Given the description of an element on the screen output the (x, y) to click on. 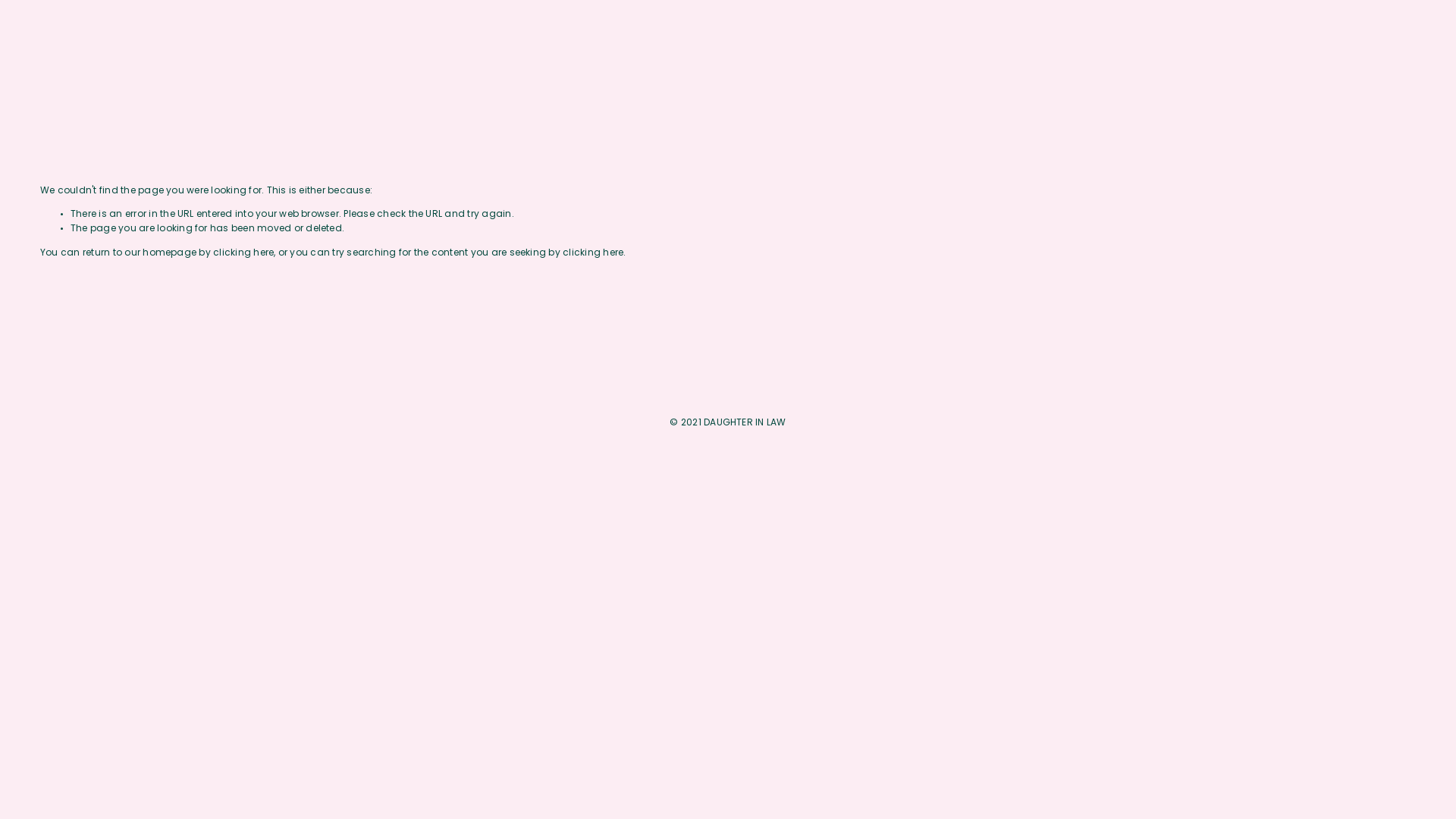
clicking here Element type: text (592, 252)
clicking here Element type: text (243, 252)
